Given the description of an element on the screen output the (x, y) to click on. 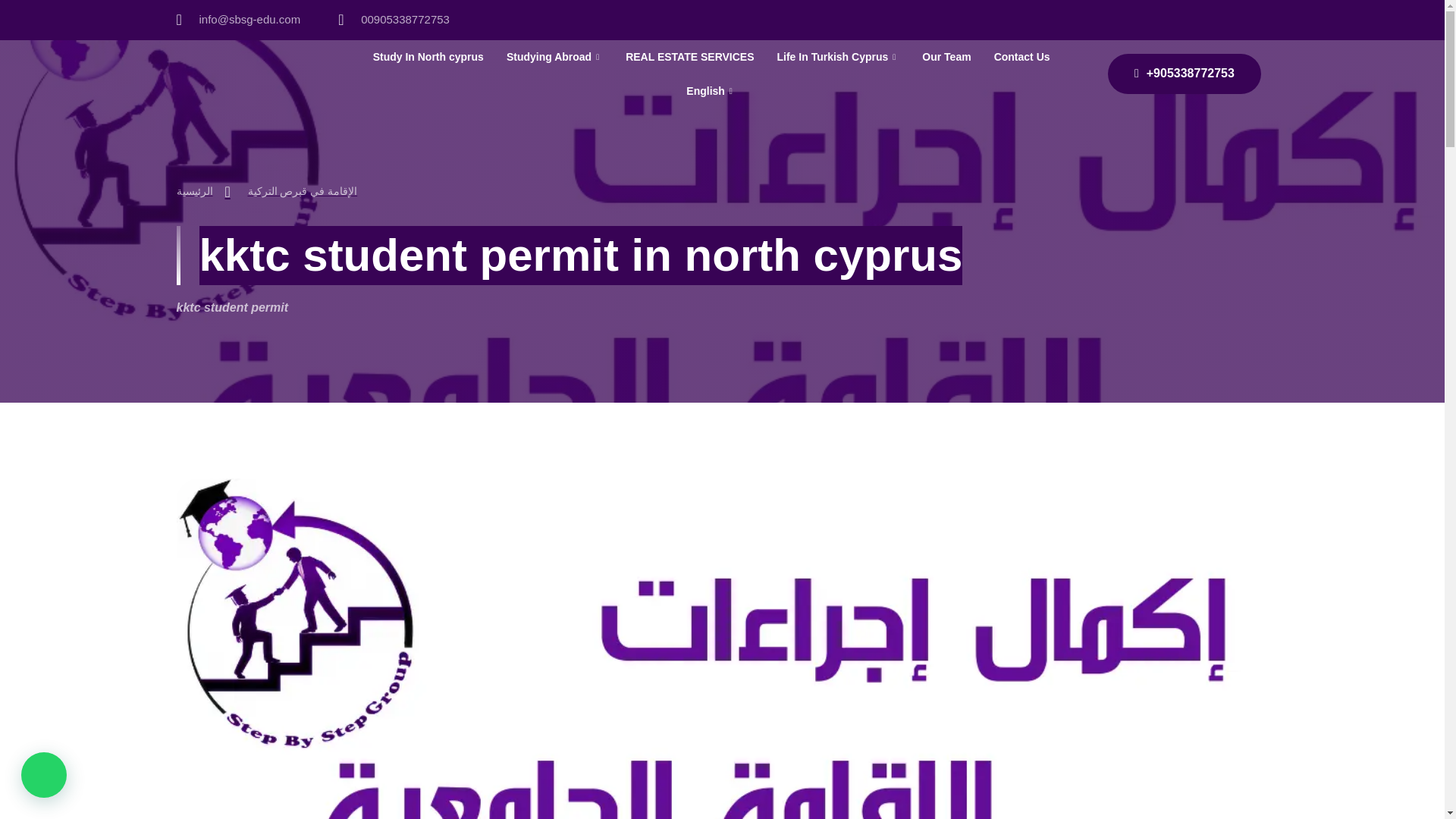
Studying Abroad (554, 56)
Life In Turkish Cyprus (838, 56)
English (711, 91)
Our Team (946, 56)
REAL ESTATE SERVICES (689, 56)
00905338772753 (393, 19)
Contact Us (1021, 56)
Study In North cyprus (428, 56)
English (711, 91)
